Given the description of an element on the screen output the (x, y) to click on. 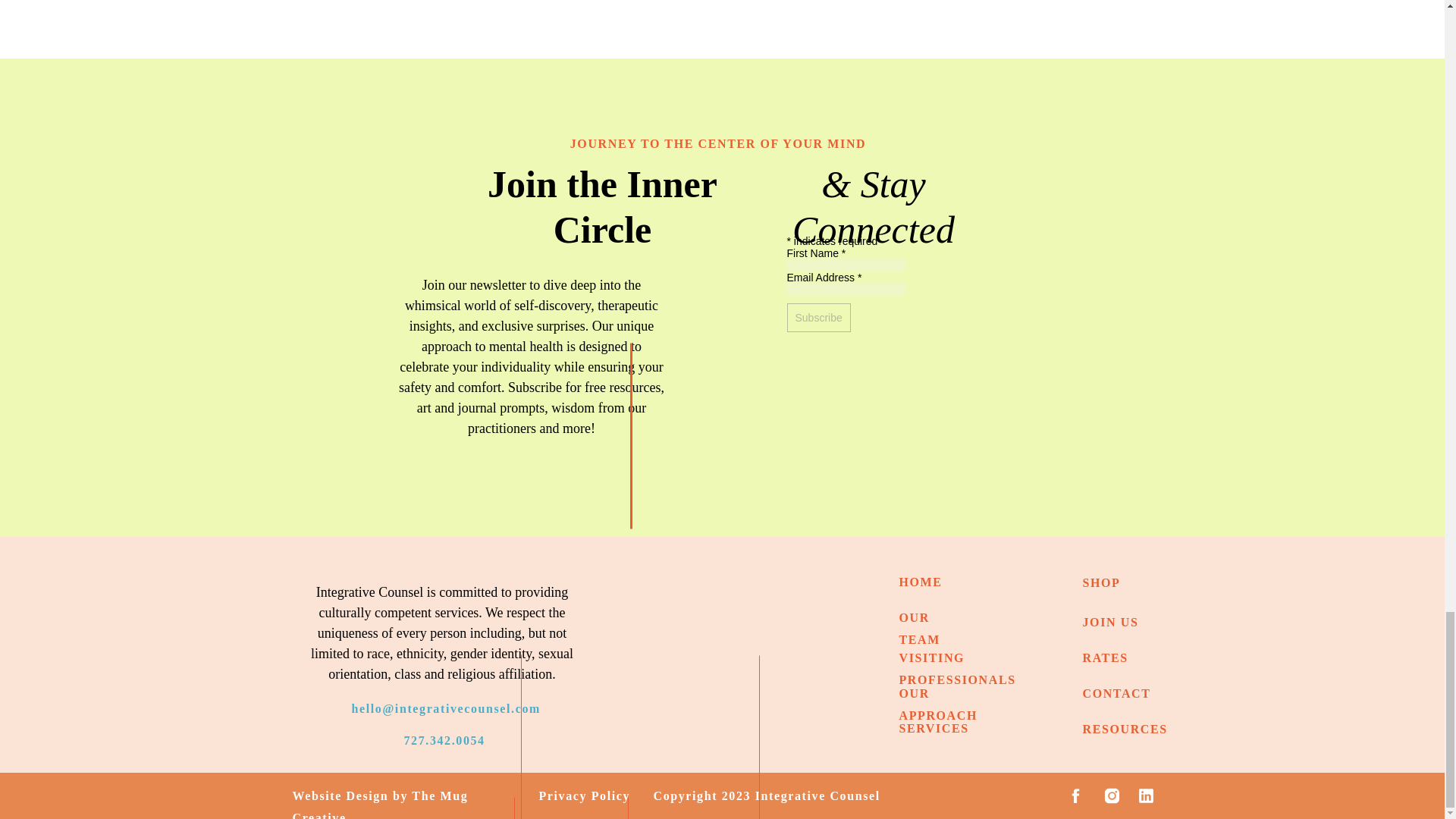
Subscribe (818, 317)
